Given the description of an element on the screen output the (x, y) to click on. 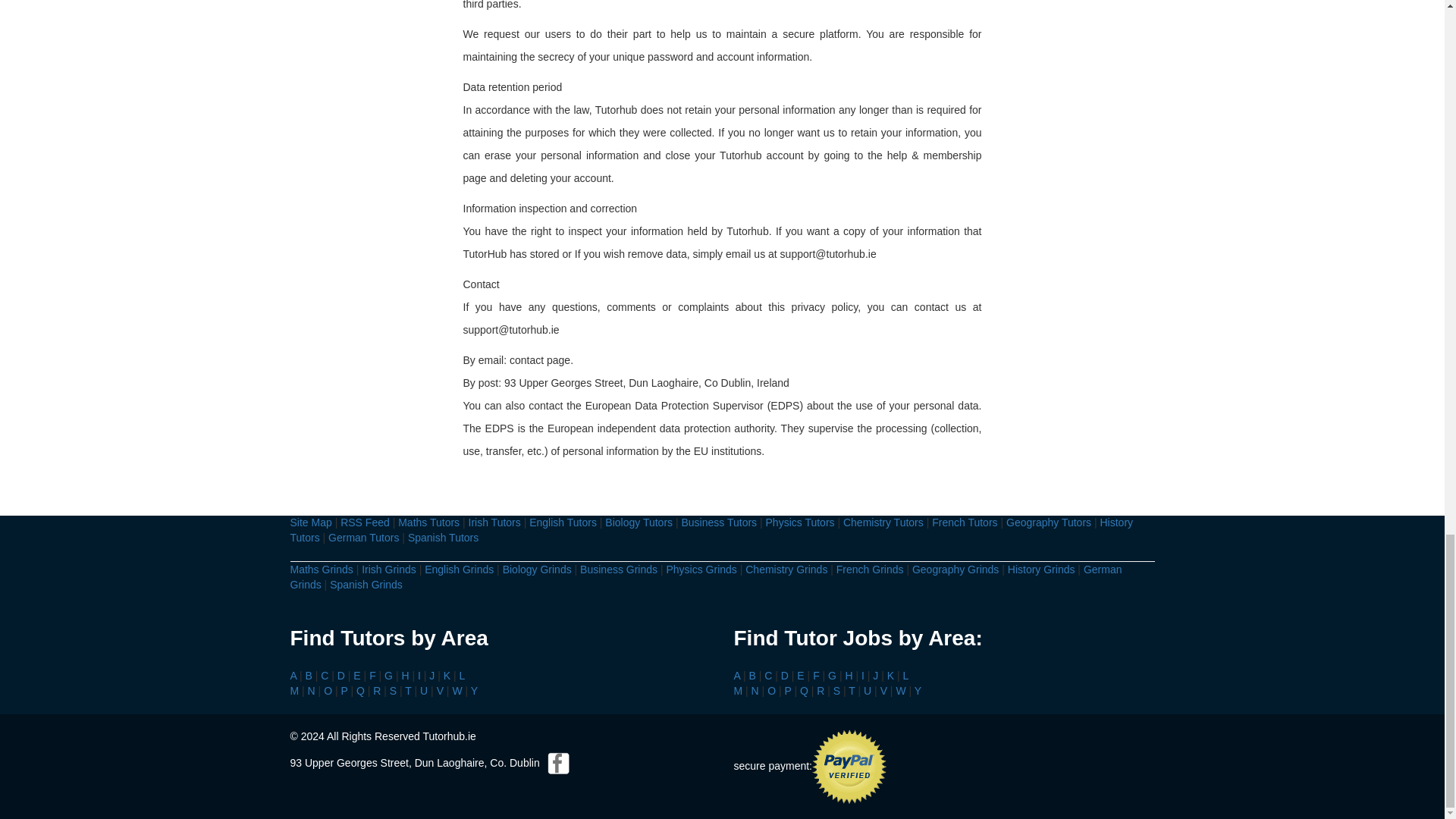
Business Tutors (719, 522)
Chemistry Tutors (883, 522)
French Grinds (869, 569)
Irish Tutors (494, 522)
Business Grinds (618, 569)
English Grinds (459, 569)
Site Map (310, 522)
Geography Tutors (1048, 522)
French Tutors (964, 522)
English Tutors (562, 522)
